Given the description of an element on the screen output the (x, y) to click on. 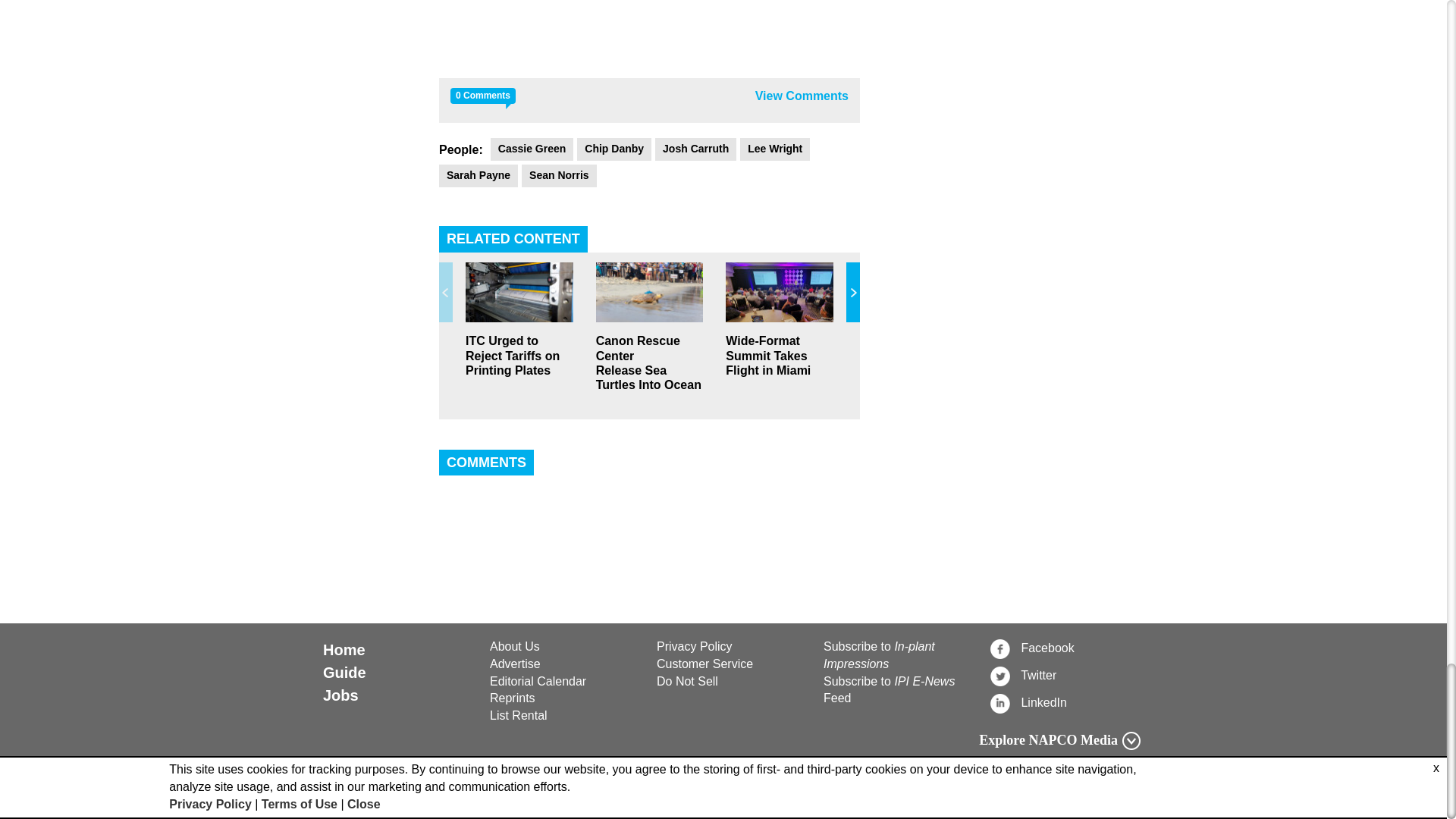
Opens in a new window (731, 647)
Opens in a new window (731, 682)
Opens in a new window (731, 664)
Opens in a new window (1065, 702)
Opens in a new window (1065, 648)
Opens in a new window (1065, 675)
